Given the description of an element on the screen output the (x, y) to click on. 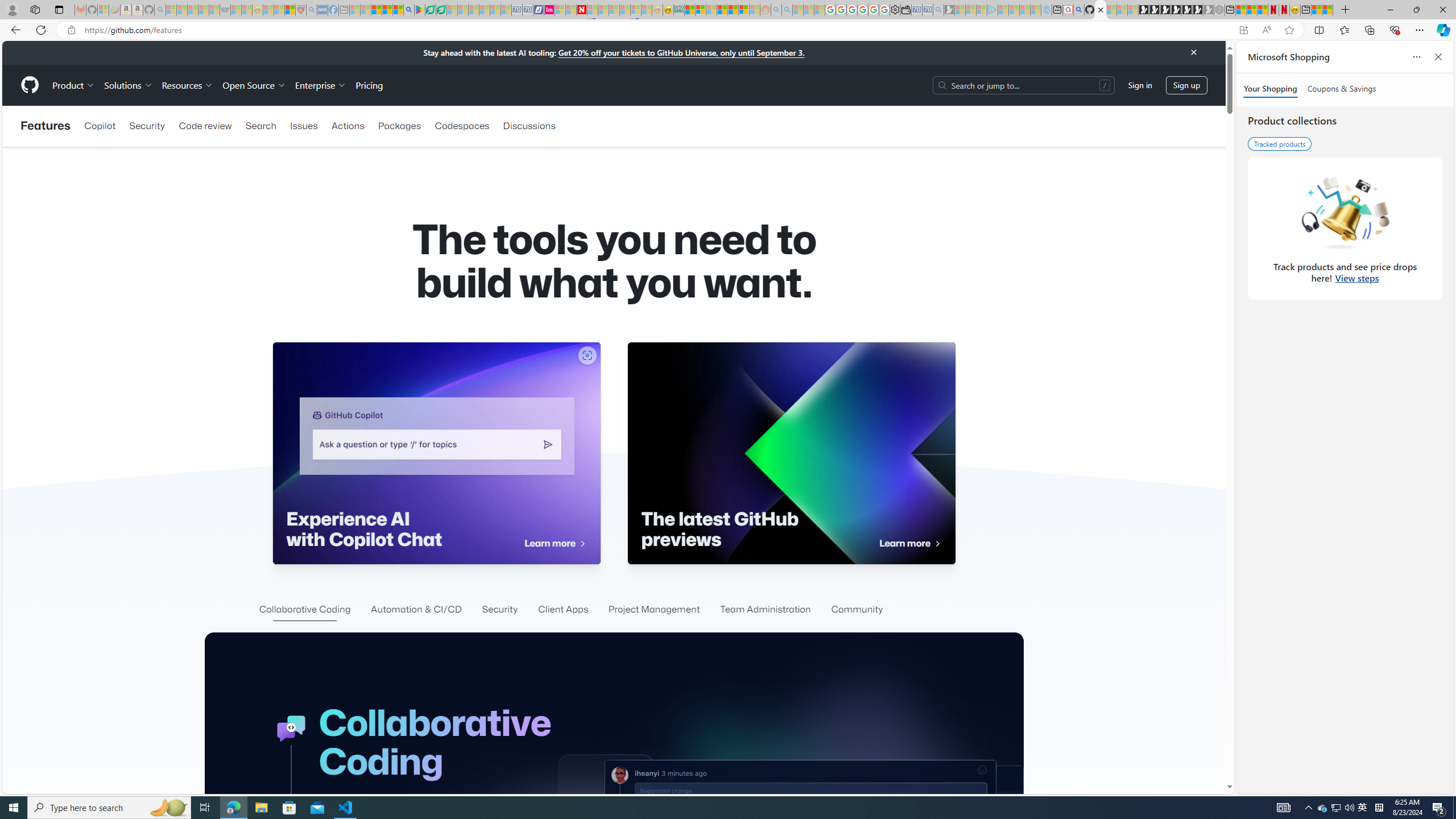
Jobs - lastminute.com Investor Portal (548, 9)
Product (74, 84)
Code review (205, 125)
Team Administration (764, 609)
Actions (347, 125)
